Given the description of an element on the screen output the (x, y) to click on. 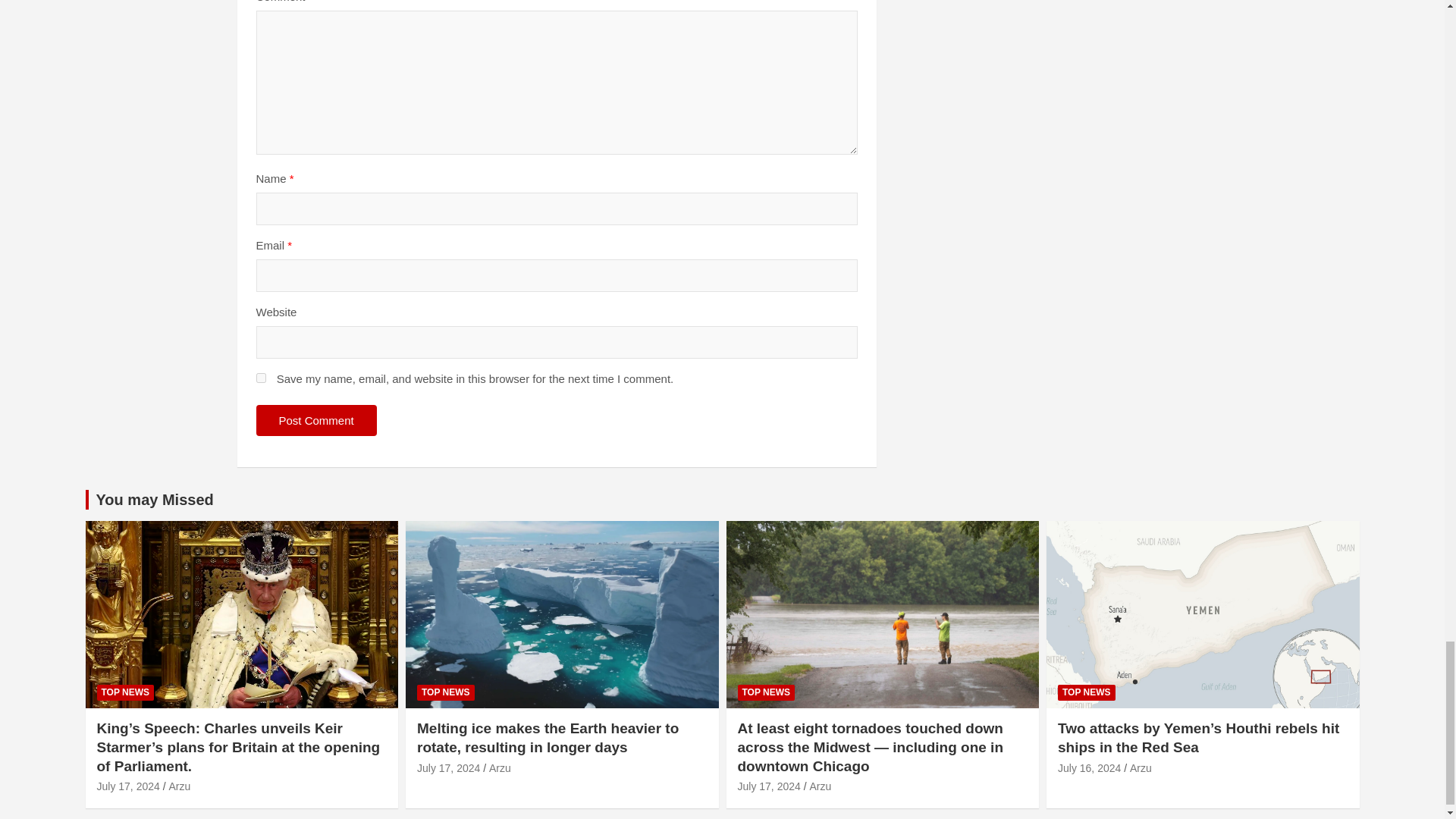
Post Comment (316, 419)
yes (261, 378)
Post Comment (316, 419)
